Given the description of an element on the screen output the (x, y) to click on. 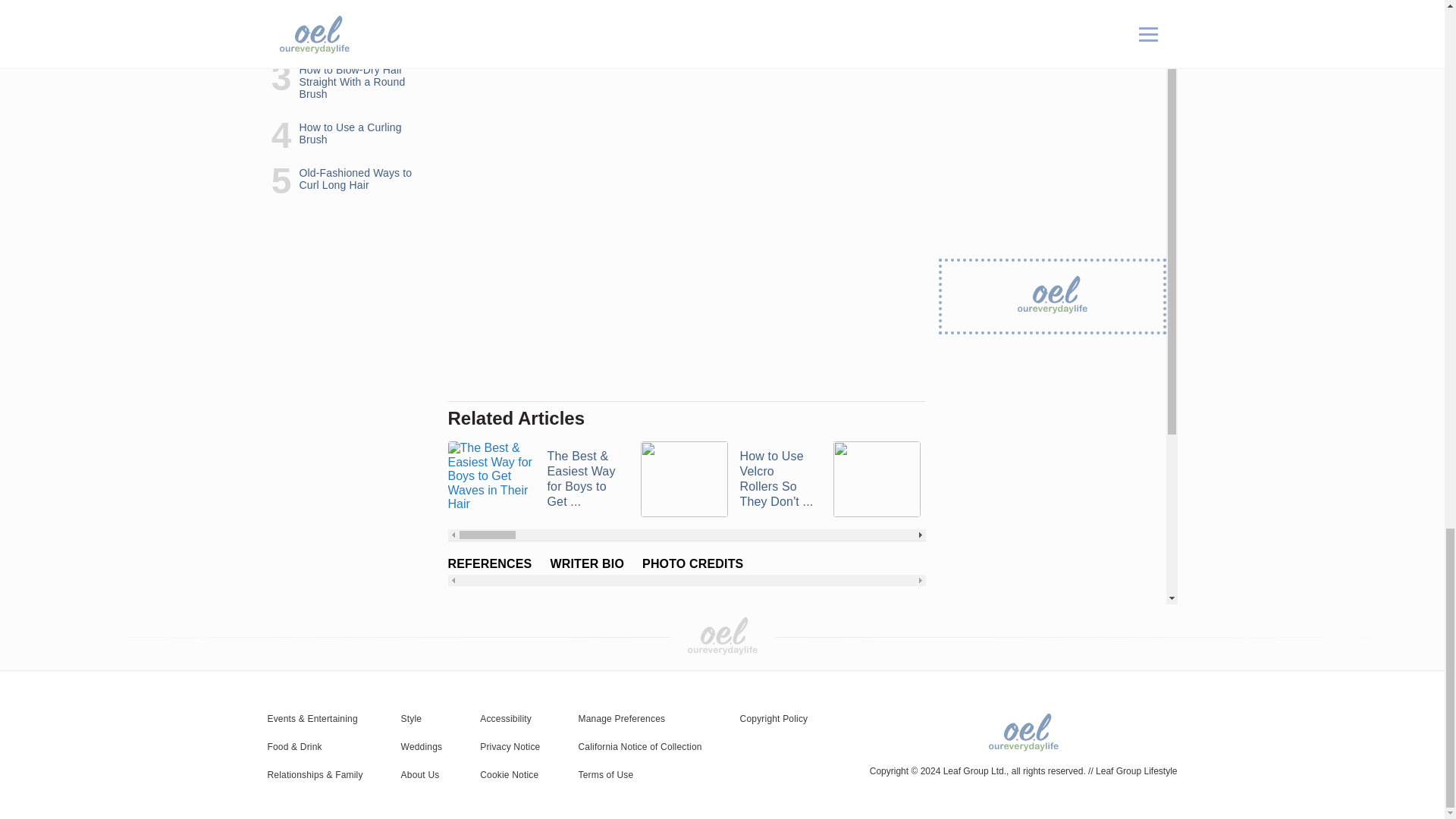
How to Blow-Dry Hair Straight With a ... (919, 478)
How to Use a Curling Brush (1112, 478)
Old-Fashioned Ways to Curl Long Hair (1304, 478)
How to Use Velcro Rollers So They Don't ... (726, 478)
